Given the description of an element on the screen output the (x, y) to click on. 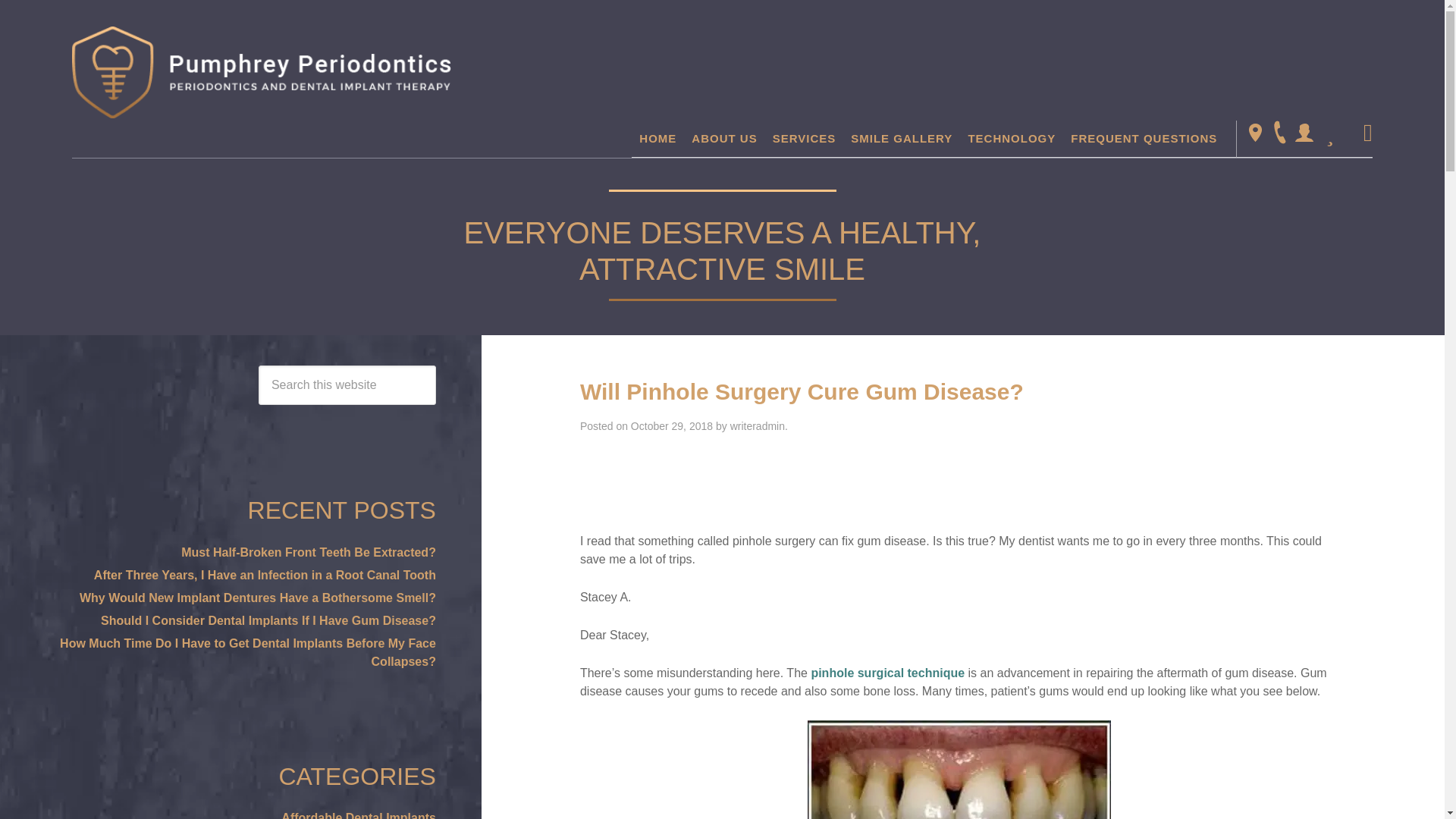
Atlanta Dental Implants (261, 71)
HOME (657, 138)
ABOUT US (724, 138)
SERVICES (804, 138)
